Given the description of an element on the screen output the (x, y) to click on. 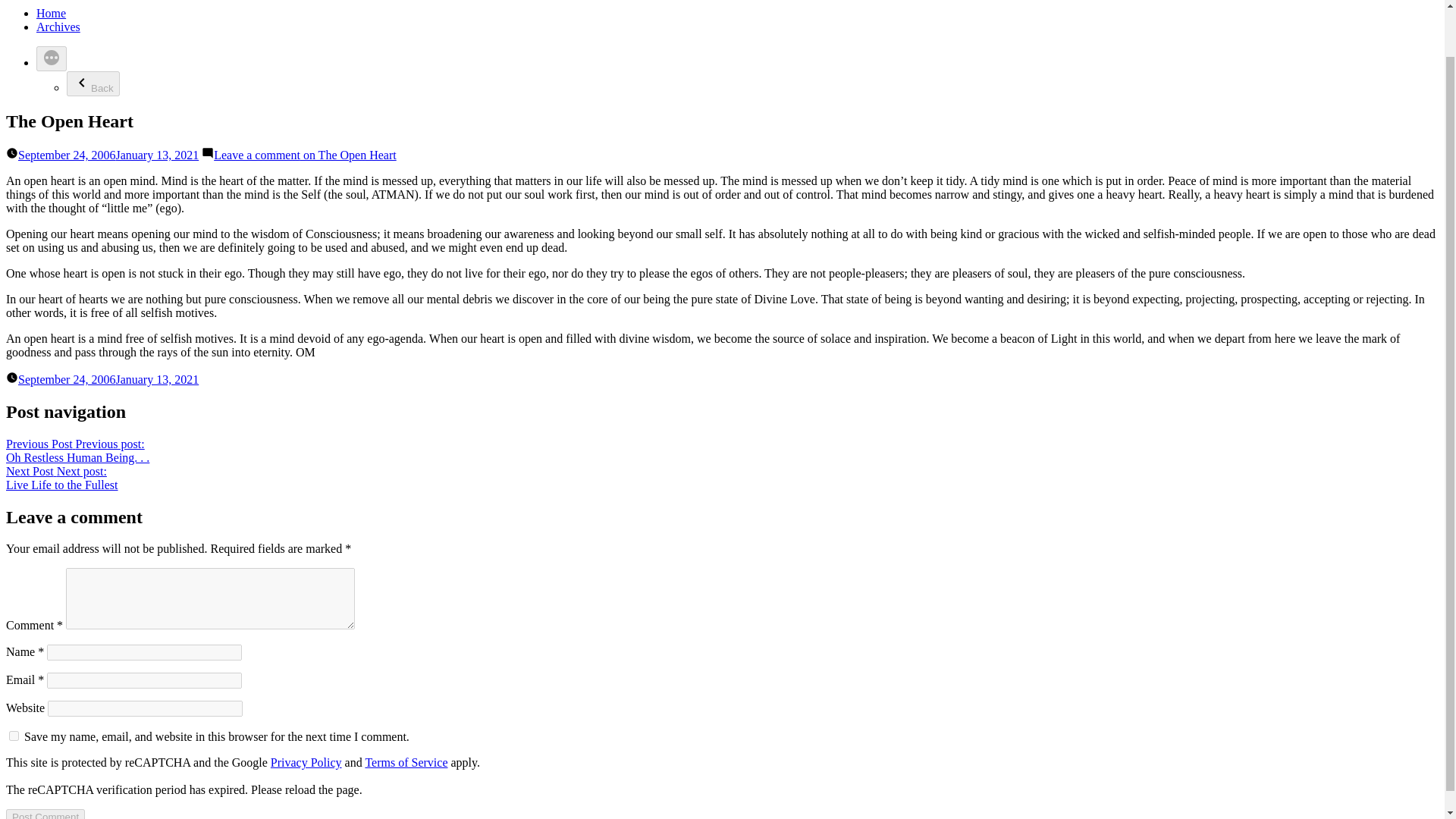
Privacy Policy (306, 762)
Archives (58, 26)
Leave a comment on The Open Heart (305, 154)
yes (13, 736)
Home (77, 450)
Terms of Service (50, 12)
September 24, 2006January 13, 2021 (61, 478)
September 24, 2006January 13, 2021 (405, 762)
